Given the description of an element on the screen output the (x, y) to click on. 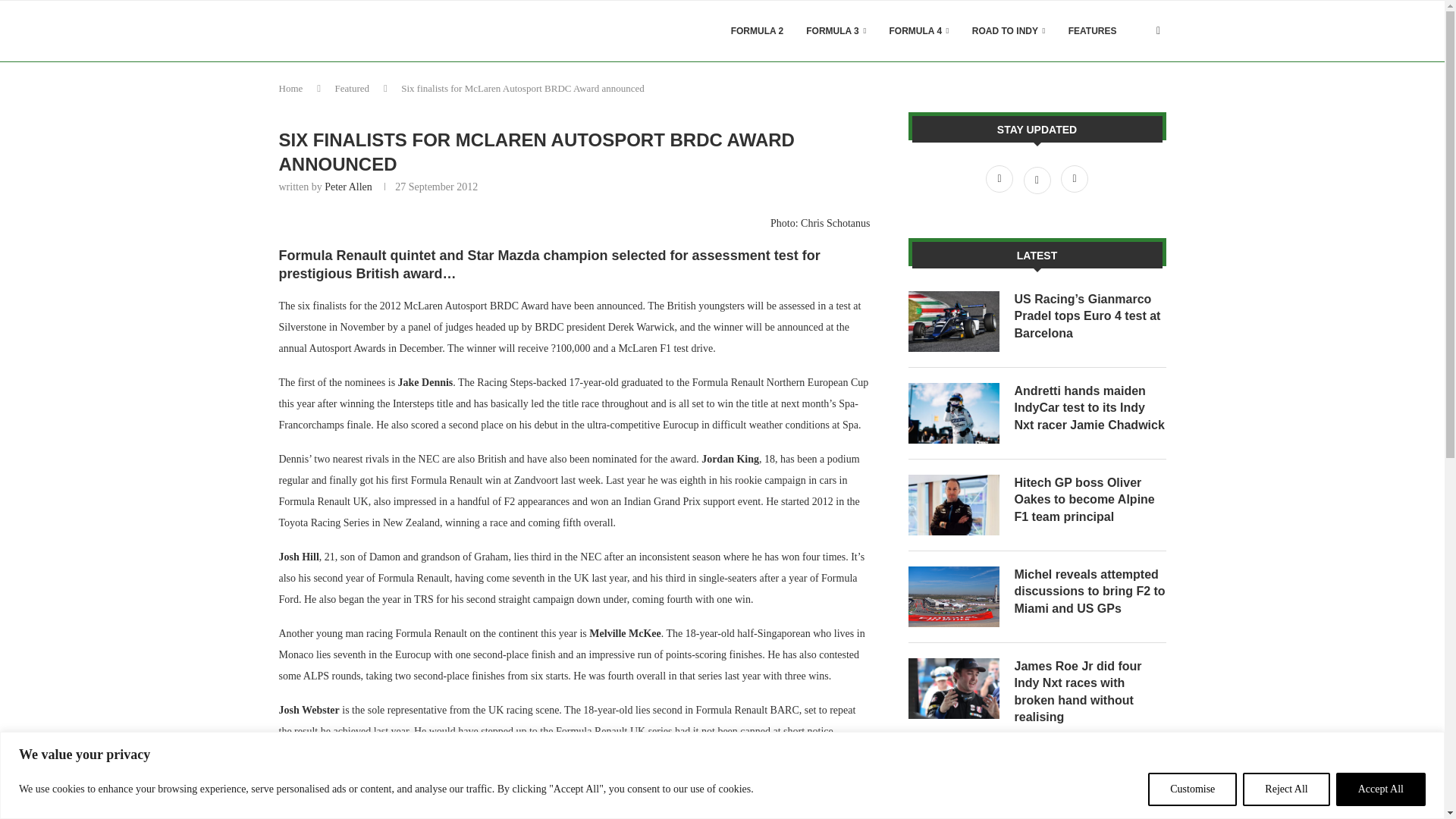
Reject All (1286, 788)
FORMULA 4 (919, 30)
Home (290, 88)
Peter Allen (348, 186)
Customise (1192, 788)
Accept All (1380, 788)
Featured (351, 88)
ROAD TO INDY (1008, 30)
